Given the description of an element on the screen output the (x, y) to click on. 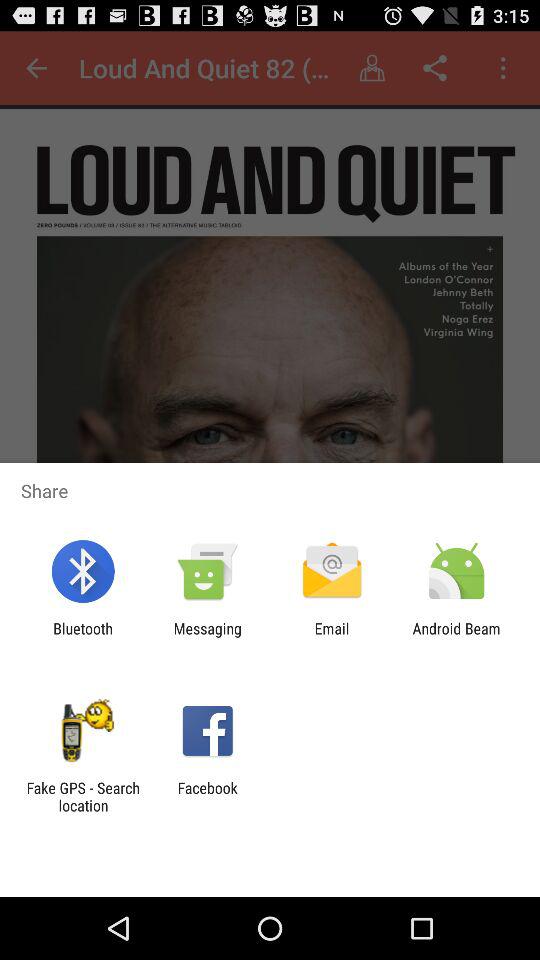
swipe until the fake gps search icon (83, 796)
